Given the description of an element on the screen output the (x, y) to click on. 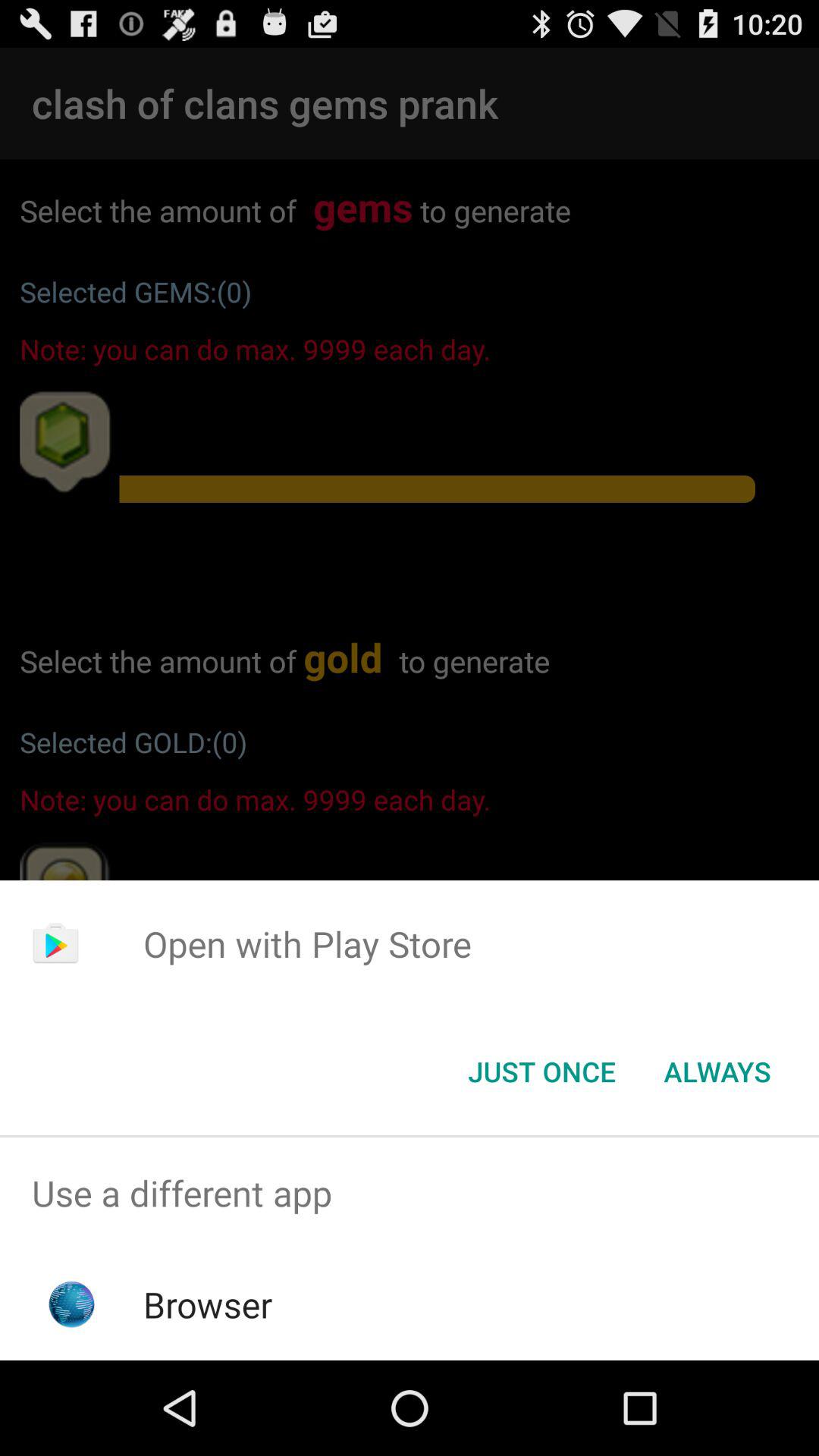
press icon above browser app (409, 1192)
